Given the description of an element on the screen output the (x, y) to click on. 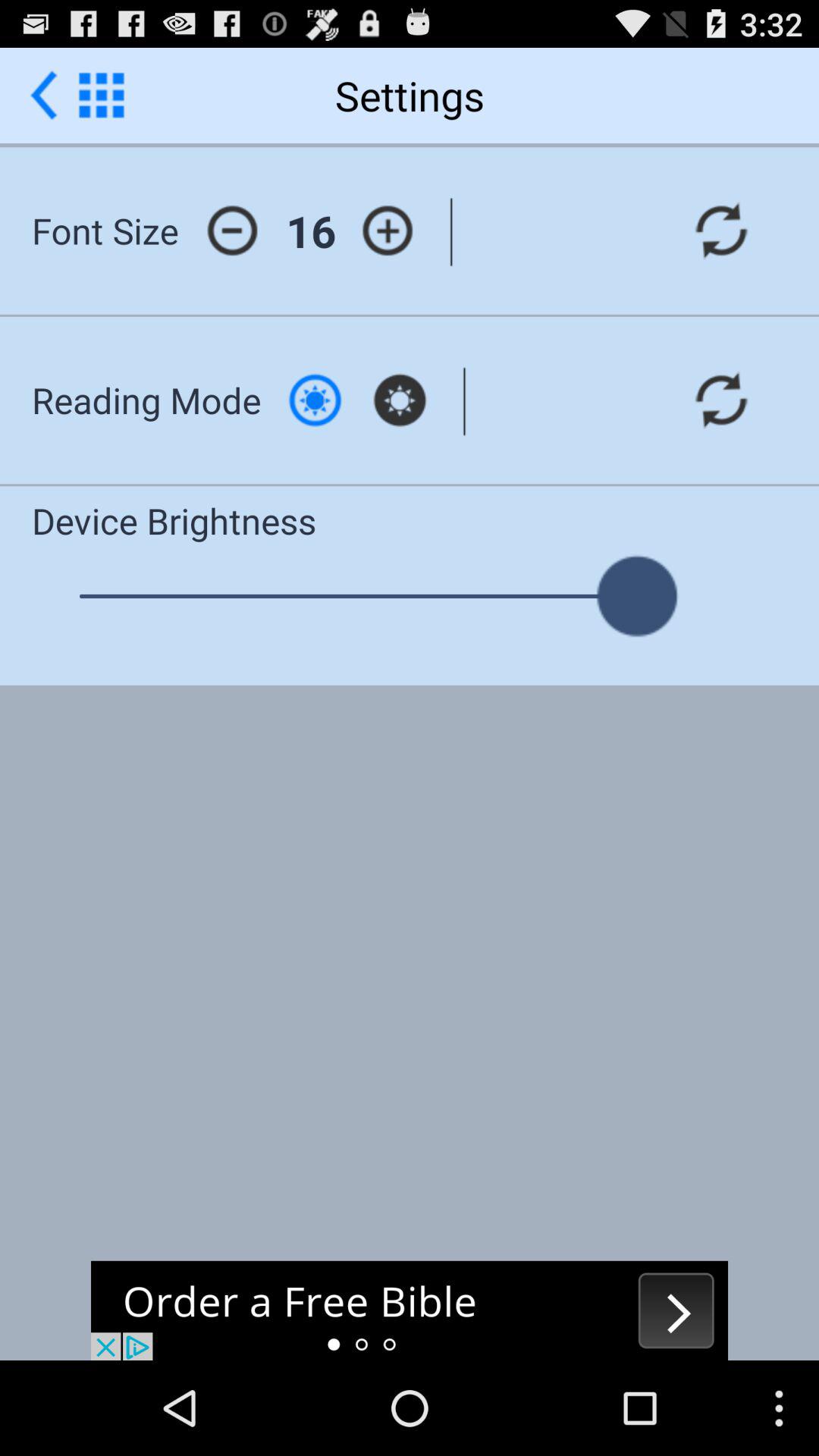
replay (721, 399)
